Given the description of an element on the screen output the (x, y) to click on. 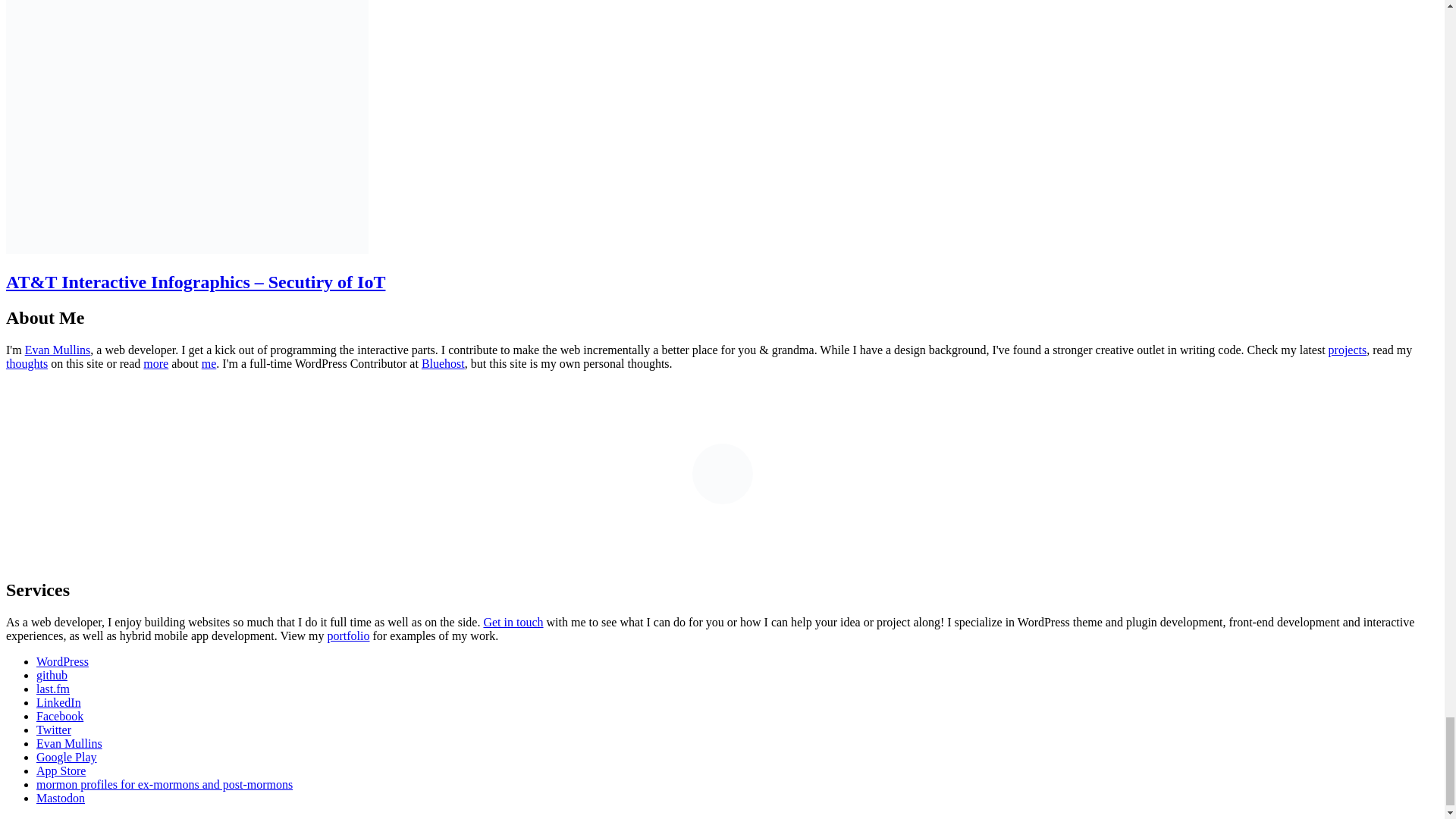
projects (1347, 349)
last.fm (52, 688)
Evan Mullins (57, 349)
WordPress (62, 661)
Facebook (59, 716)
Twitter (53, 729)
Evan Mullins (68, 743)
LinkedIn (58, 702)
github (51, 675)
Google Play (66, 757)
